Given the description of an element on the screen output the (x, y) to click on. 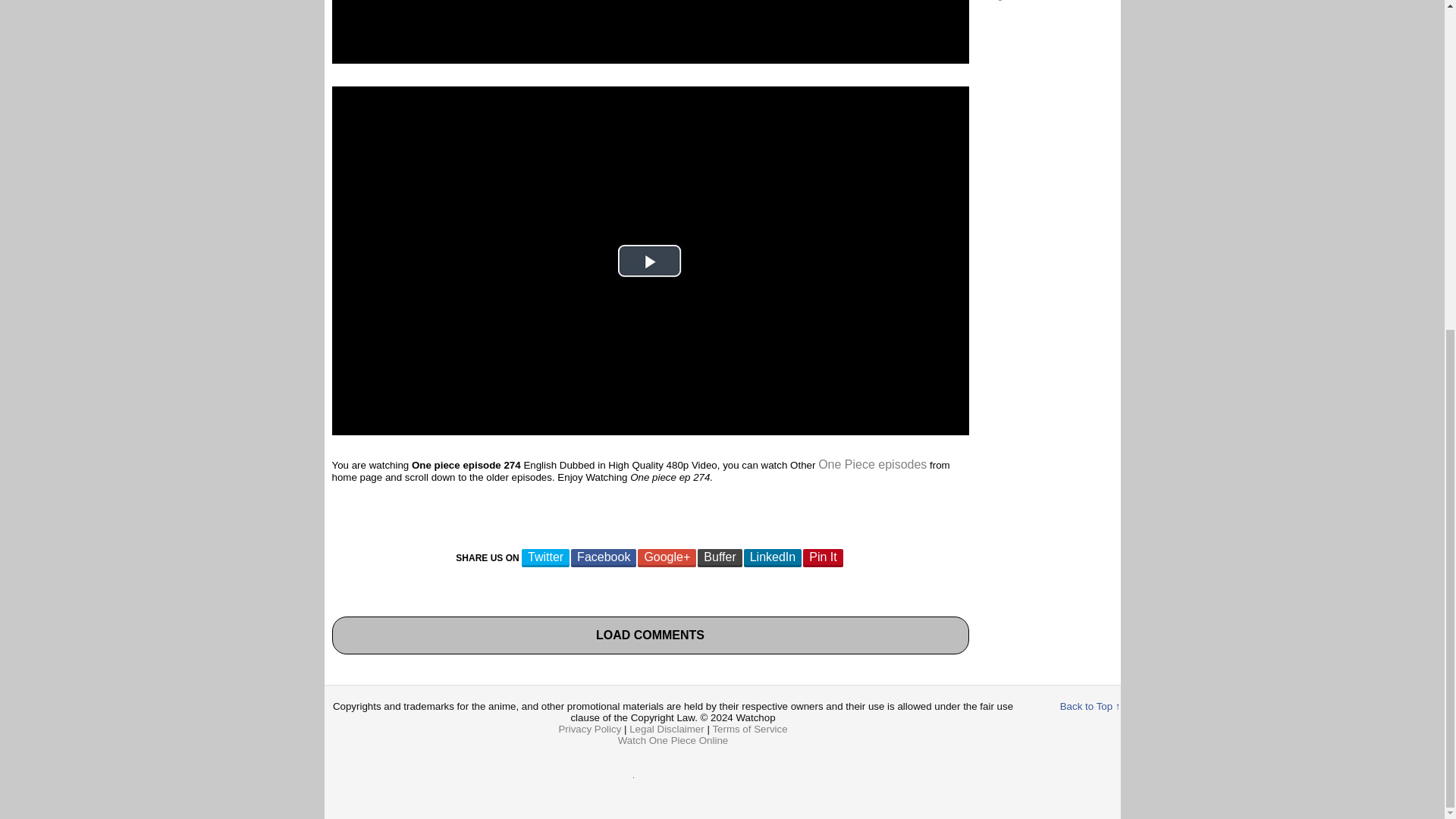
Terms of Service (749, 728)
LinkedIn (773, 557)
Facebook (603, 557)
Pin It (823, 557)
Buffer (719, 557)
Legal Disclaimer (666, 728)
LOAD COMMENTS (649, 634)
Privacy Policy (589, 728)
One Piece episodes (872, 463)
Watch One Piece Online (672, 740)
Twitter (545, 557)
